Given the description of an element on the screen output the (x, y) to click on. 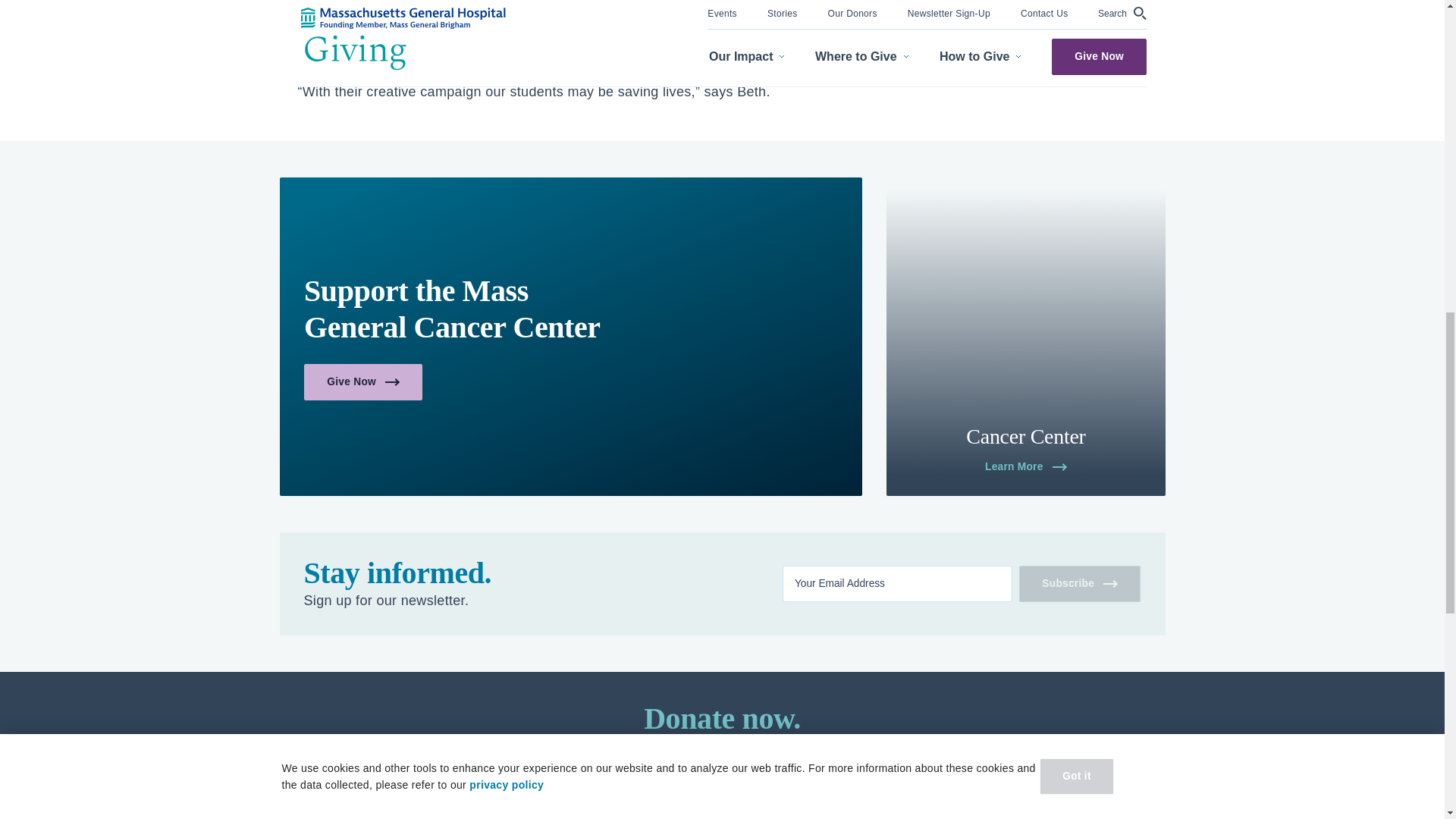
Subscribe (1079, 583)
